Given the description of an element on the screen output the (x, y) to click on. 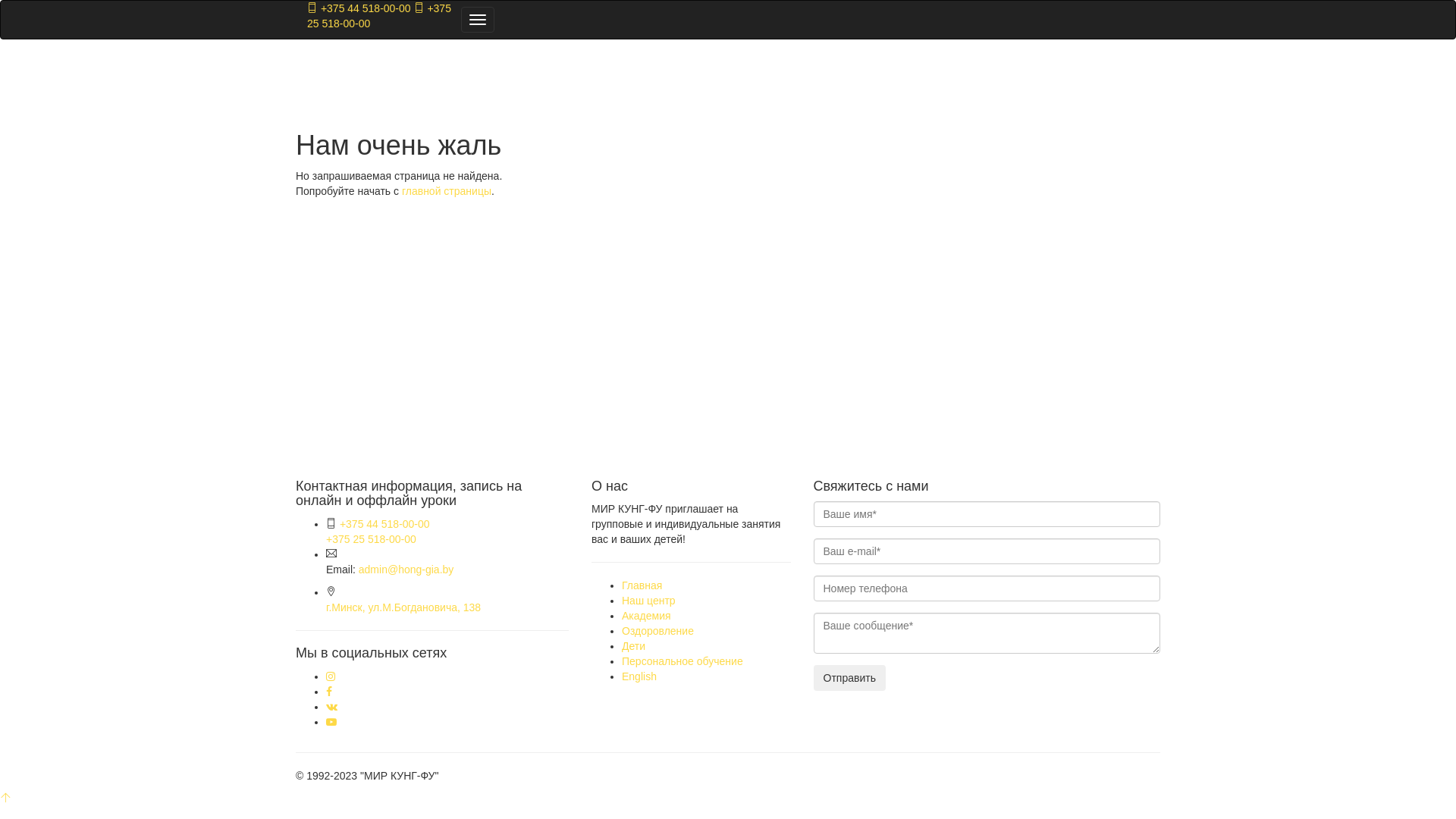
+375 44 518-00-00 Element type: text (384, 523)
+375 25 518-00-00 Element type: text (371, 539)
admin@hong-gia.by Element type: text (406, 569)
+375 44 518-00-00 Element type: text (359, 8)
+375 25 518-00-00 Element type: text (379, 15)
English Element type: text (638, 676)
